Given the description of an element on the screen output the (x, y) to click on. 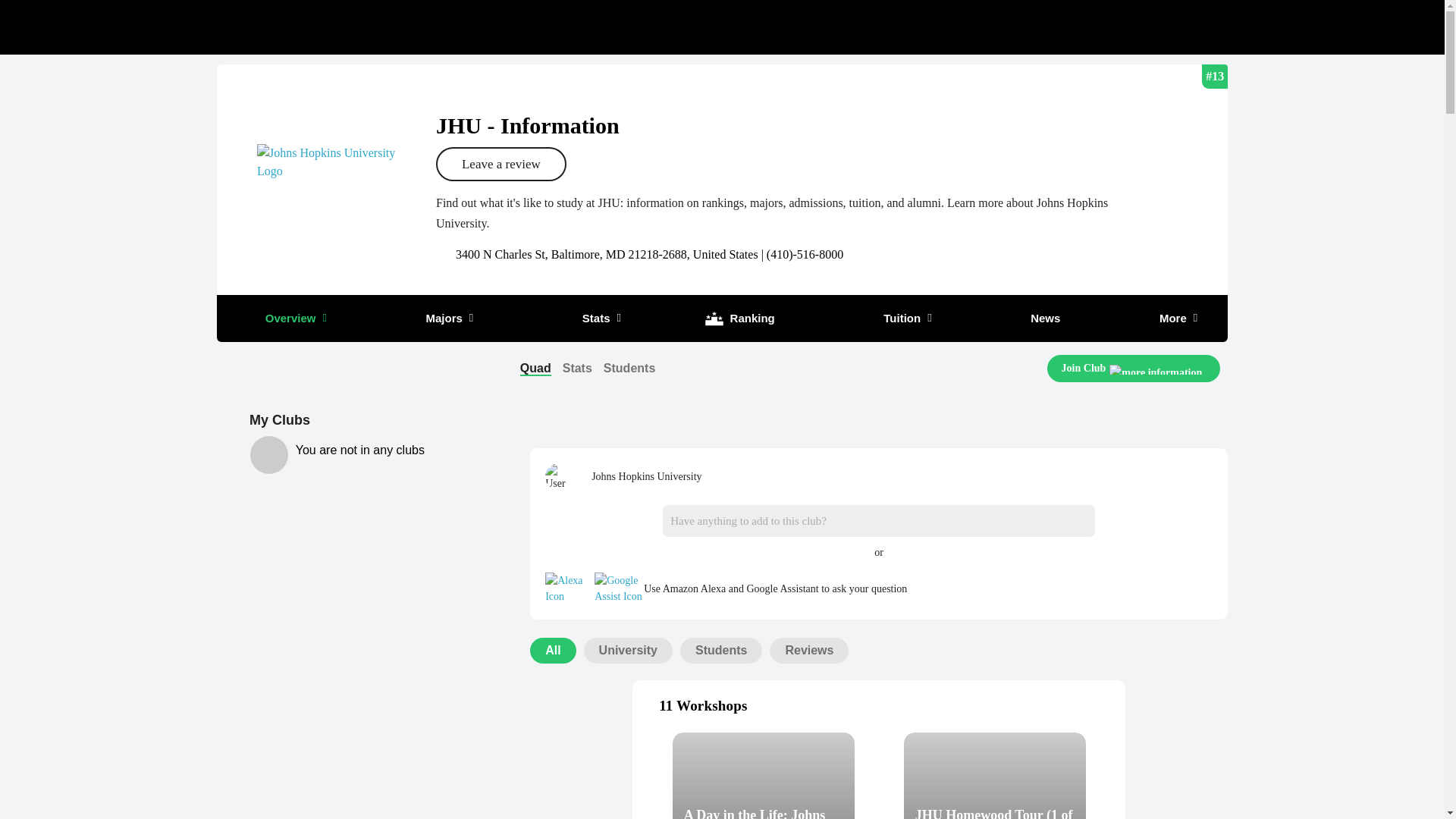
Stats (587, 318)
Ranking (737, 318)
Majors (440, 318)
A Day in the Life: Johns Hopkins Student (763, 775)
Overview (286, 318)
Leave a review (500, 163)
Tuition (893, 318)
